Given the description of an element on the screen output the (x, y) to click on. 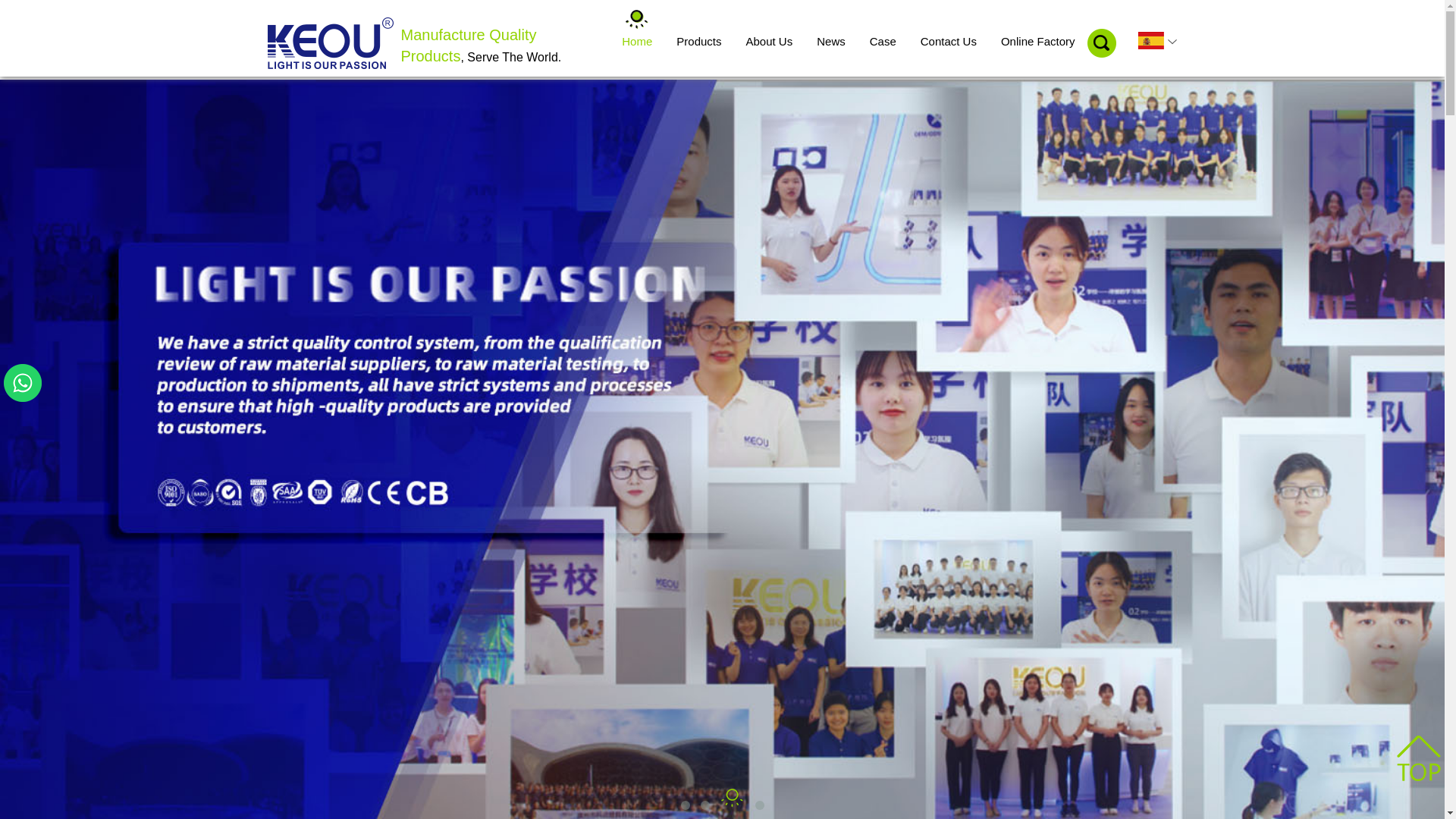
LED Light Factory Element type: hover (329, 43)
About Us Element type: text (769, 42)
Case Element type: text (882, 42)
Products Element type: text (698, 42)
search Element type: hover (1101, 42)
Whatsapp Element type: hover (22, 382)
Home Element type: text (636, 42)
News Element type: text (830, 42)
Contact Us Element type: text (948, 42)
Online Factory Element type: text (1038, 42)
